Given the description of an element on the screen output the (x, y) to click on. 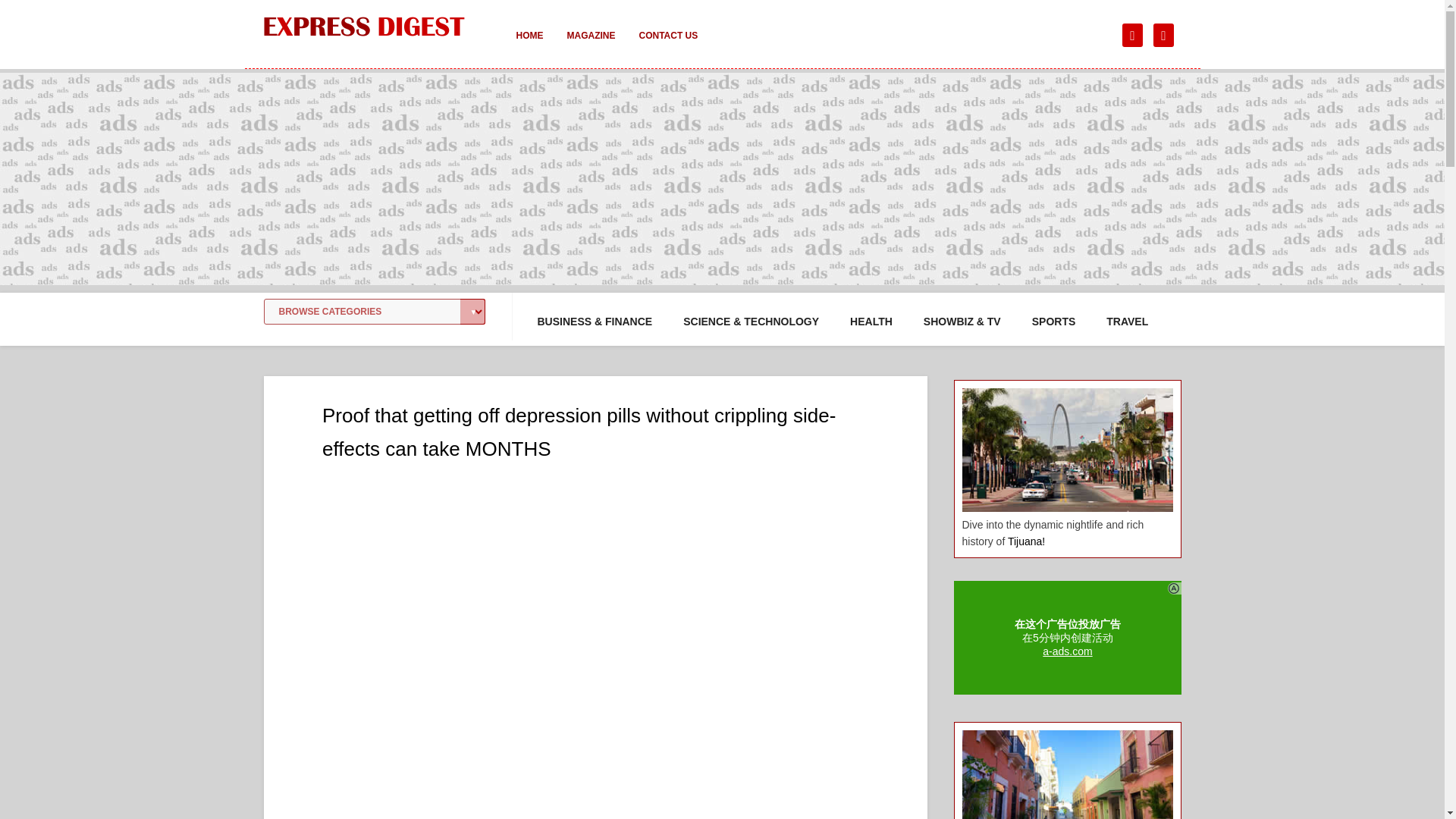
TRAVEL (1127, 321)
MAGAZINE (590, 45)
HOME (528, 45)
HEALTH (871, 321)
CONTACT US (667, 45)
SPORTS (1053, 321)
Tijuana! (1026, 541)
